Given the description of an element on the screen output the (x, y) to click on. 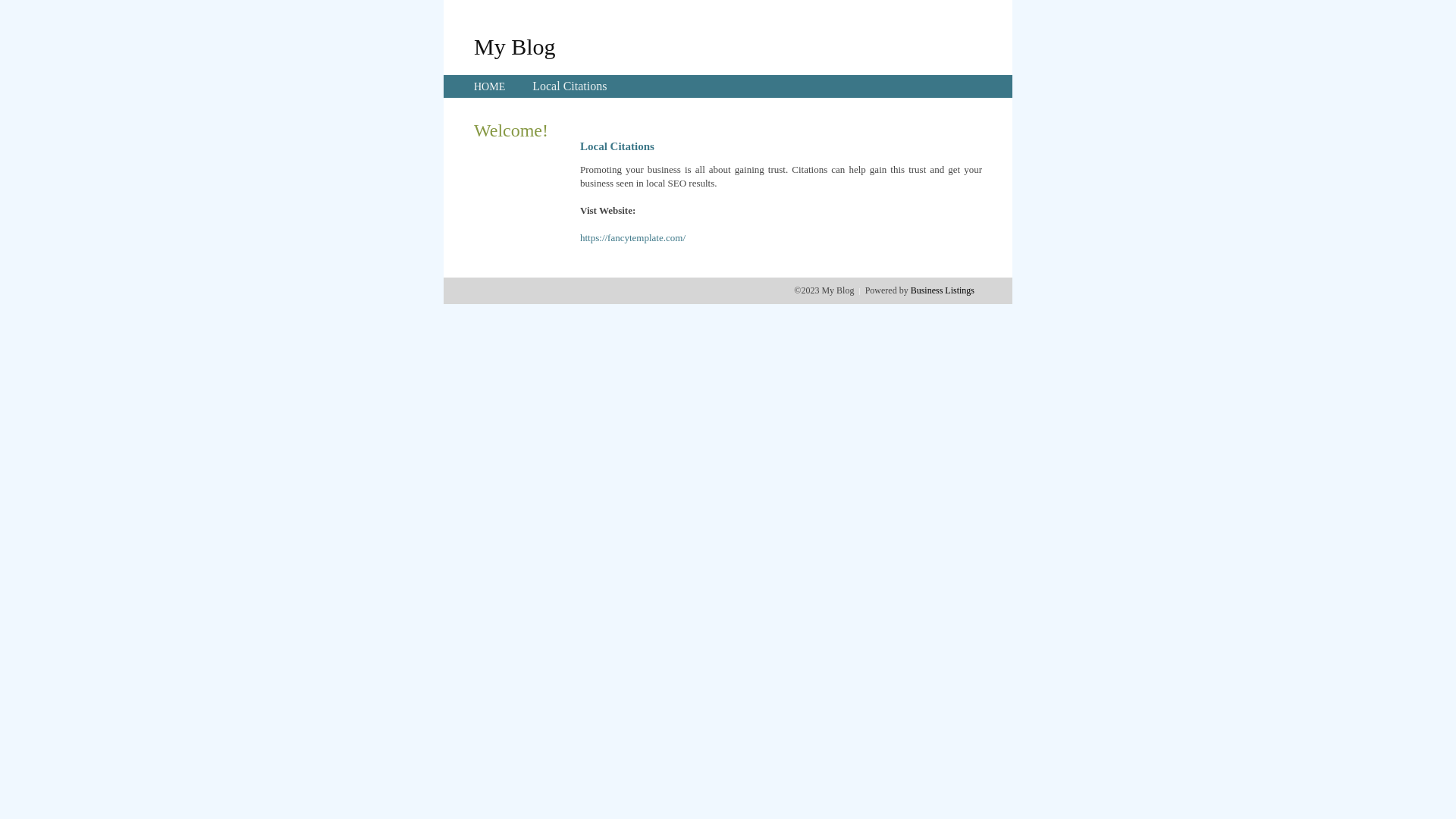
HOME Element type: text (489, 86)
https://fancytemplate.com/ Element type: text (632, 237)
Local Citations Element type: text (569, 85)
My Blog Element type: text (514, 46)
Business Listings Element type: text (942, 290)
